Given the description of an element on the screen output the (x, y) to click on. 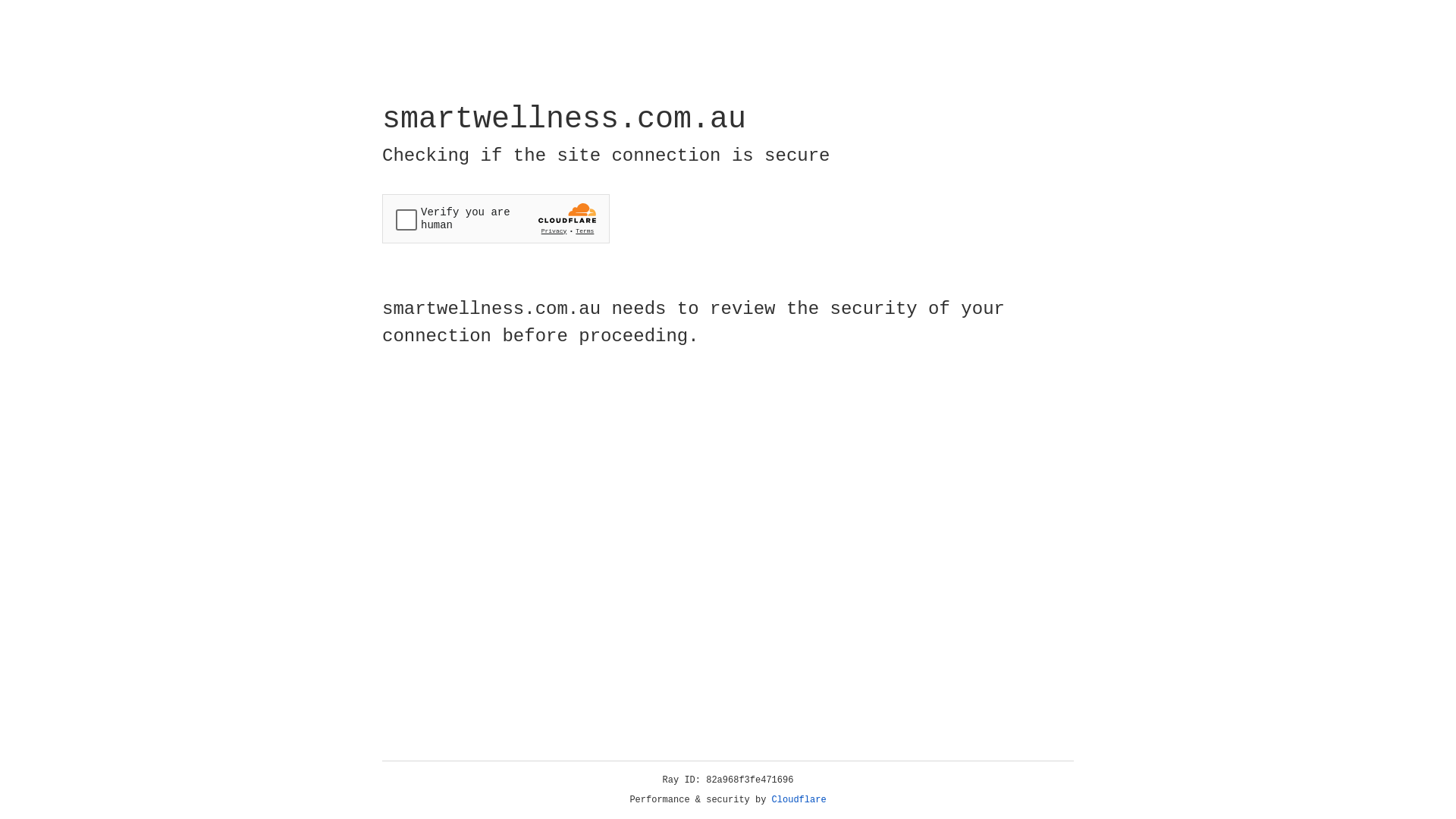
Widget containing a Cloudflare security challenge Element type: hover (495, 218)
Cloudflare Element type: text (798, 799)
